Given the description of an element on the screen output the (x, y) to click on. 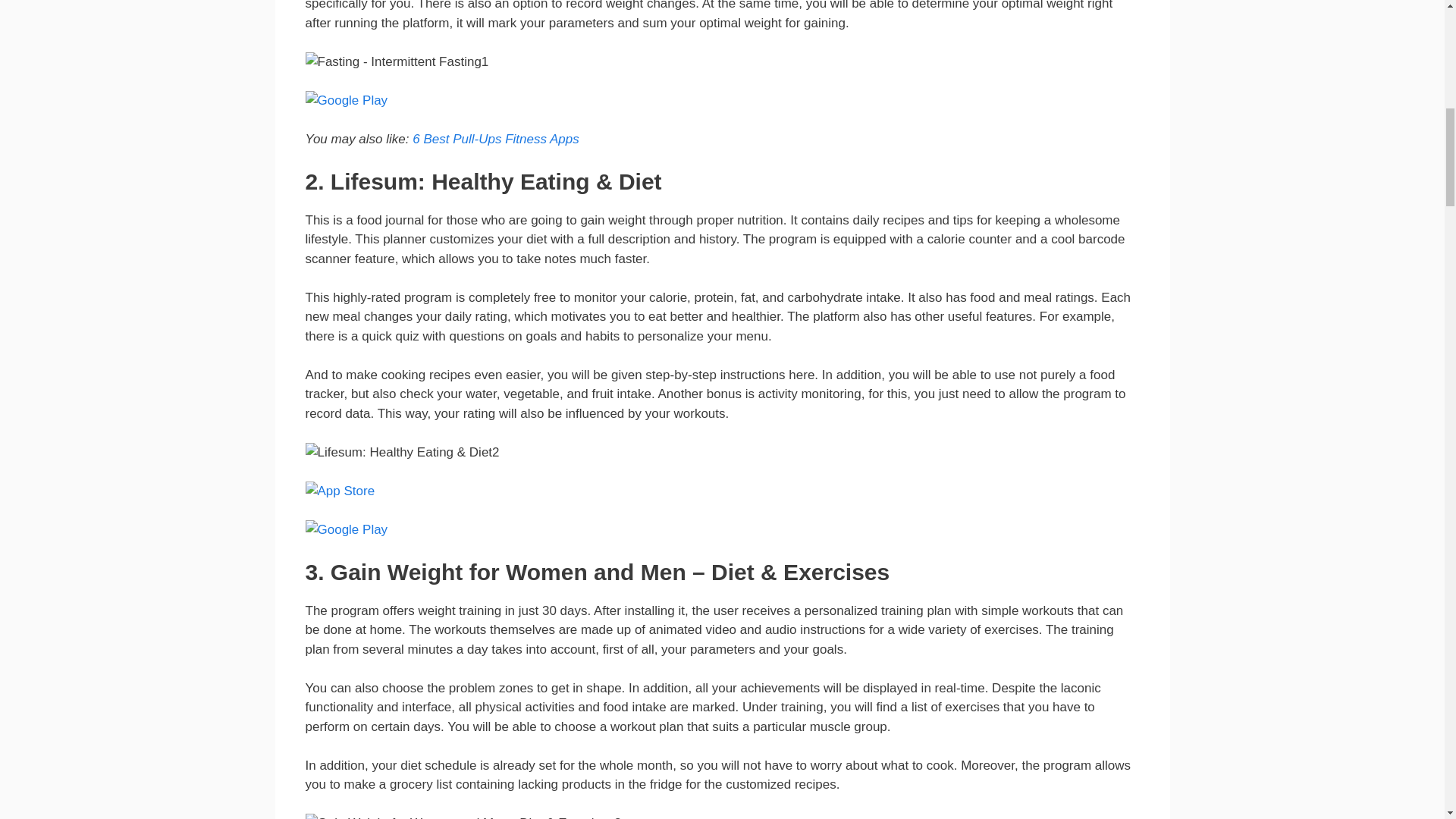
6 Best Pull-Ups Fitness Apps (495, 138)
